Given the description of an element on the screen output the (x, y) to click on. 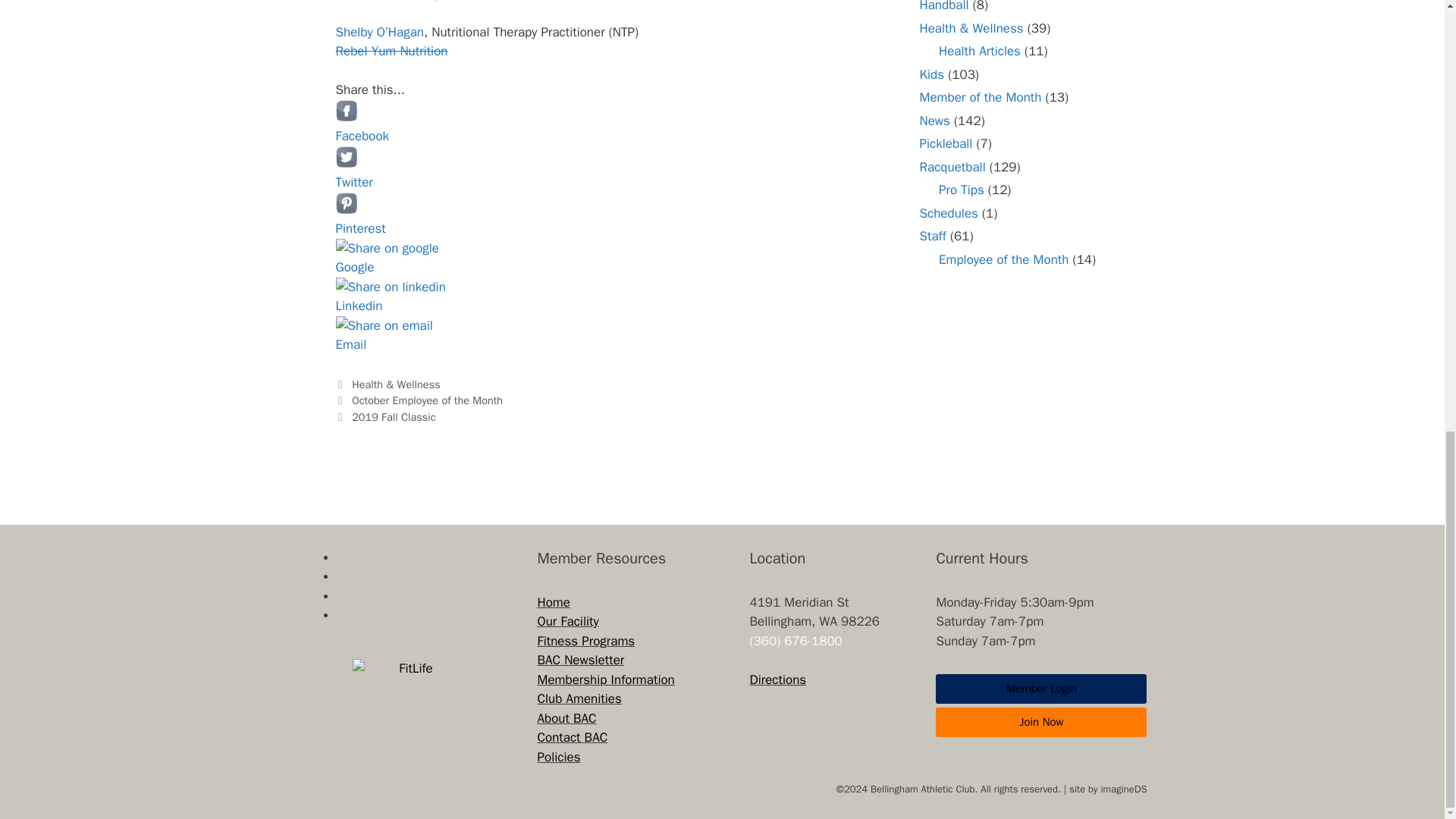
Facebook (389, 136)
pinterest (345, 202)
Google (389, 267)
twitter (345, 156)
email (383, 325)
Twitter (389, 182)
google (386, 248)
Linkedin (389, 306)
linkedin (389, 287)
facebook (345, 110)
